Given the description of an element on the screen output the (x, y) to click on. 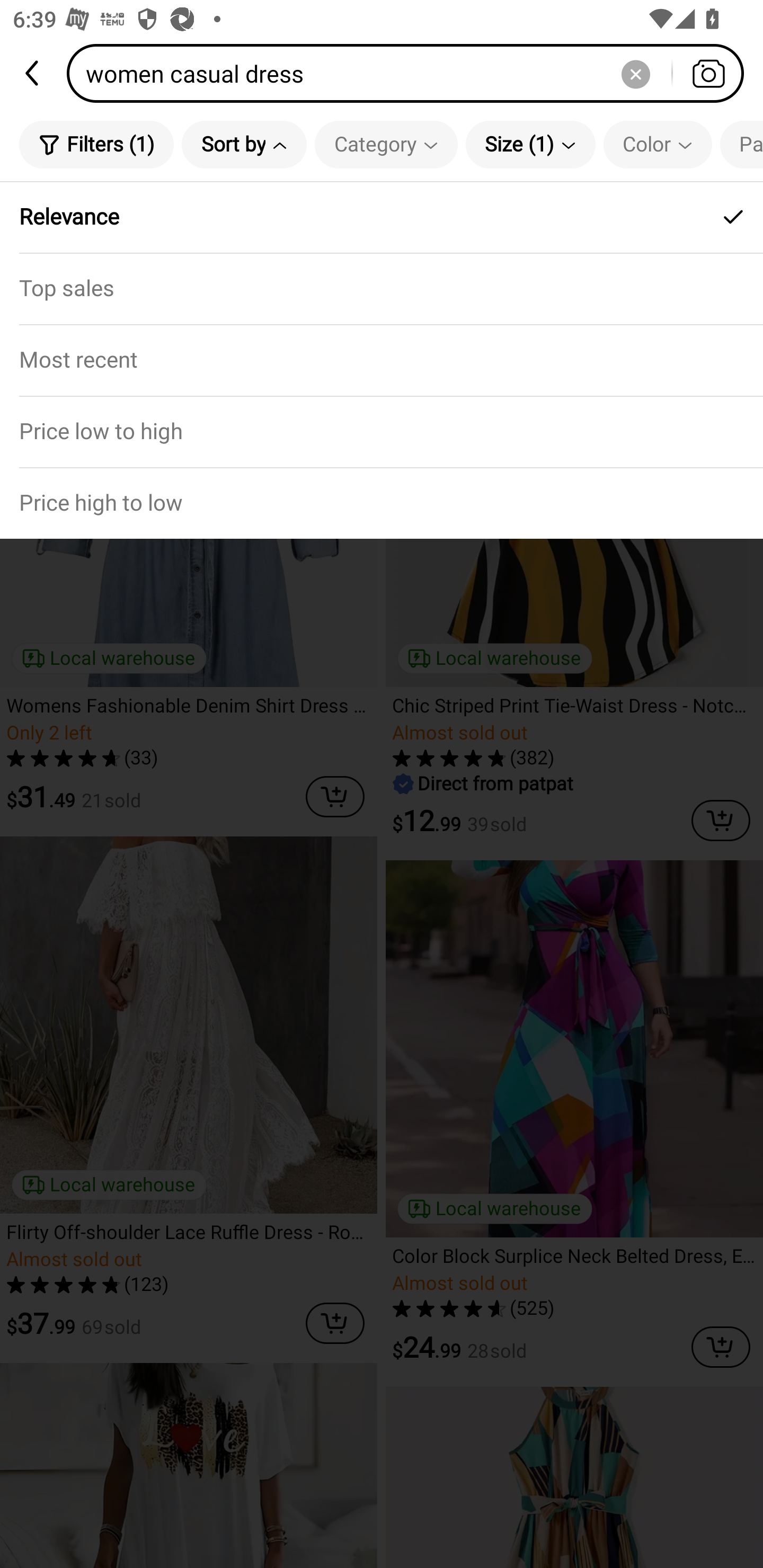
back (33, 72)
women casual dress (411, 73)
Delete search history (635, 73)
Search by photo (708, 73)
Filters (1) (96, 143)
Sort by (243, 143)
Category (385, 143)
Size (1) (530, 143)
Color (657, 143)
Relevance (381, 216)
Top sales (381, 288)
Most recent (381, 359)
Price low to high (381, 431)
Price high to low (381, 503)
